Given the description of an element on the screen output the (x, y) to click on. 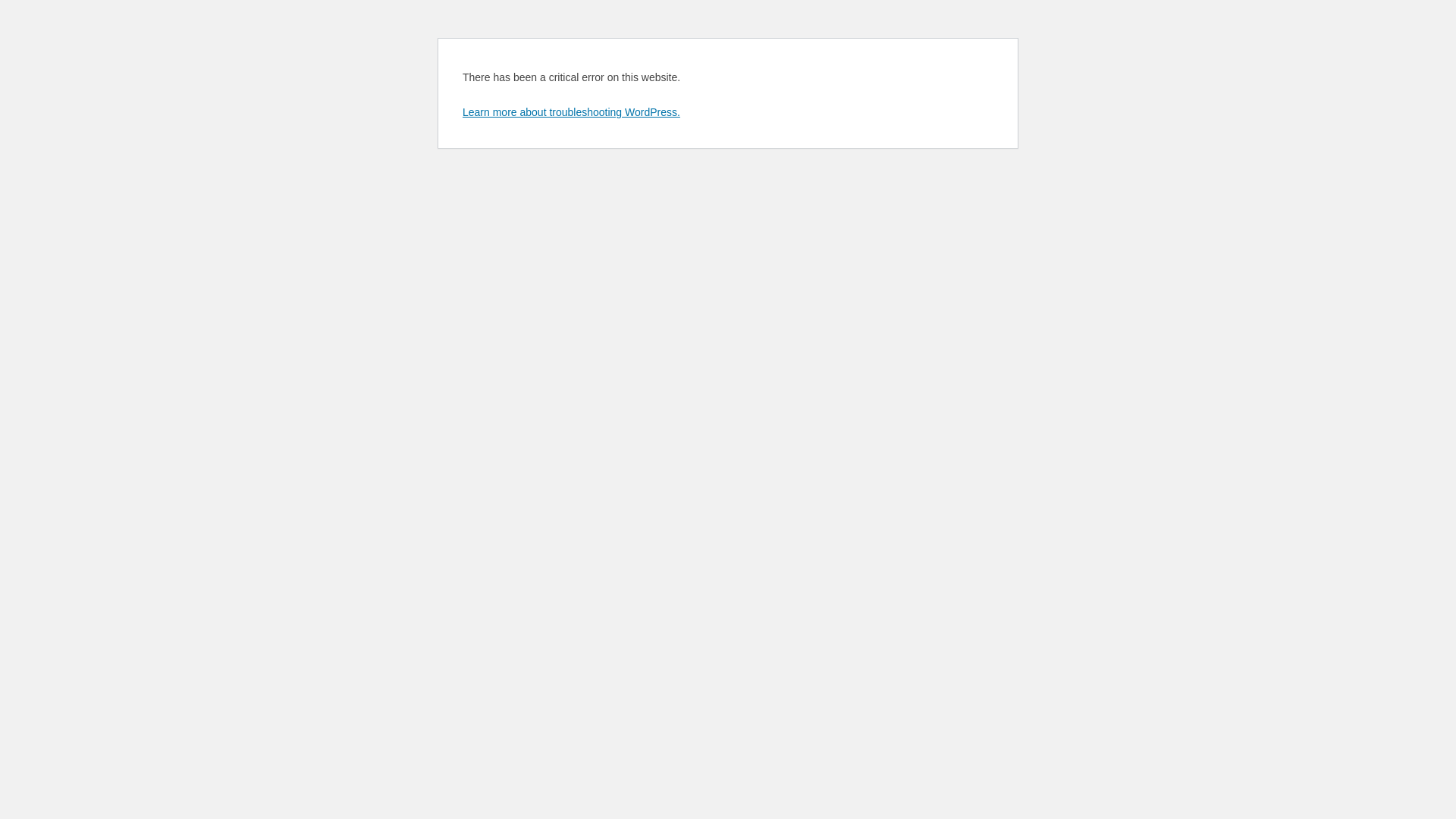
Learn more about troubleshooting WordPress. Element type: text (571, 112)
